Given the description of an element on the screen output the (x, y) to click on. 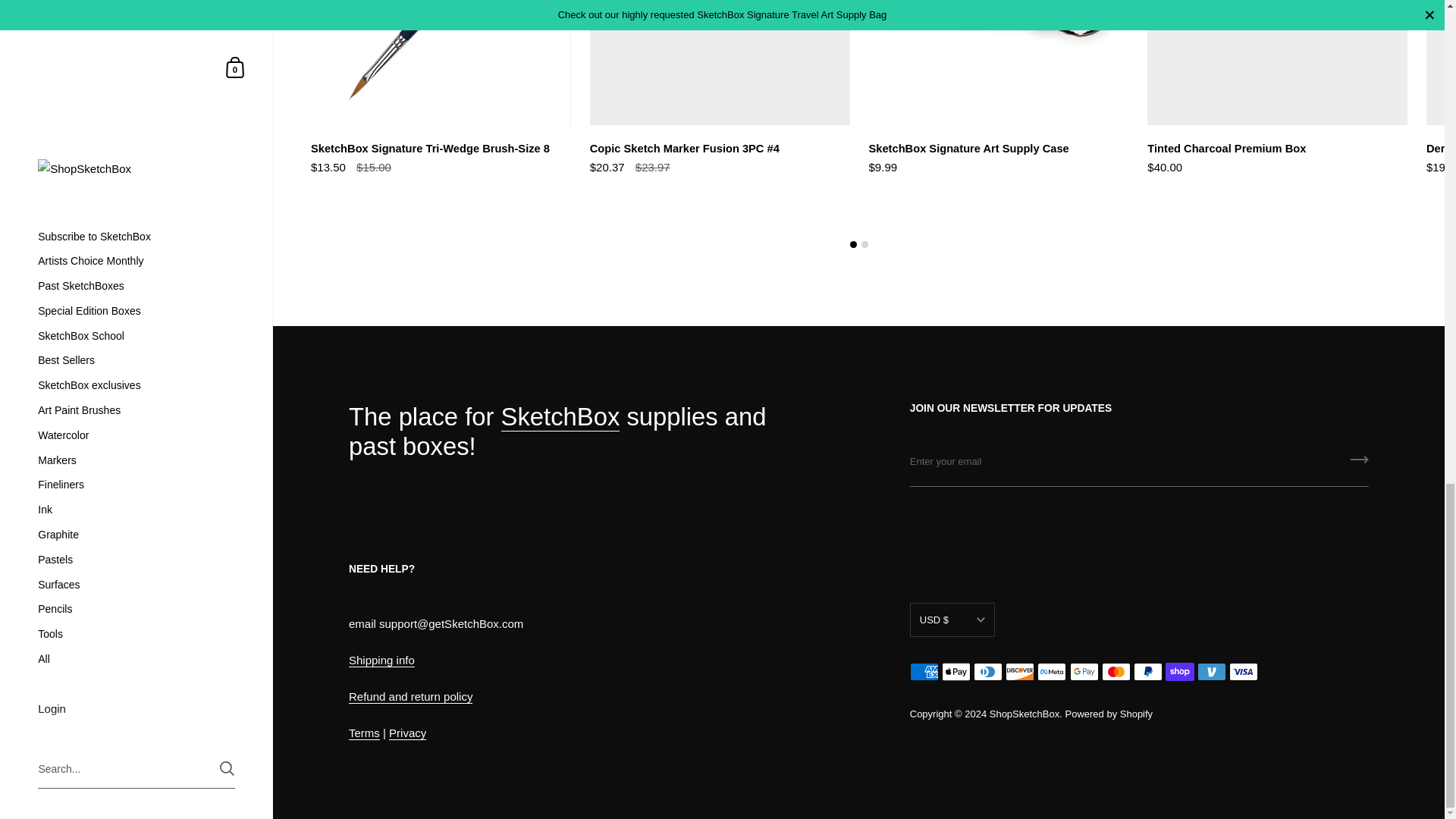
Shop Pay (1179, 671)
American Express (924, 671)
SketchBox (560, 416)
Privacy Policy (407, 733)
Visa (1242, 671)
Meta Pay (1050, 671)
Venmo (1210, 671)
Returns and refunds policies (410, 696)
Google Pay (1084, 671)
Apple Pay (956, 671)
